Given the description of an element on the screen output the (x, y) to click on. 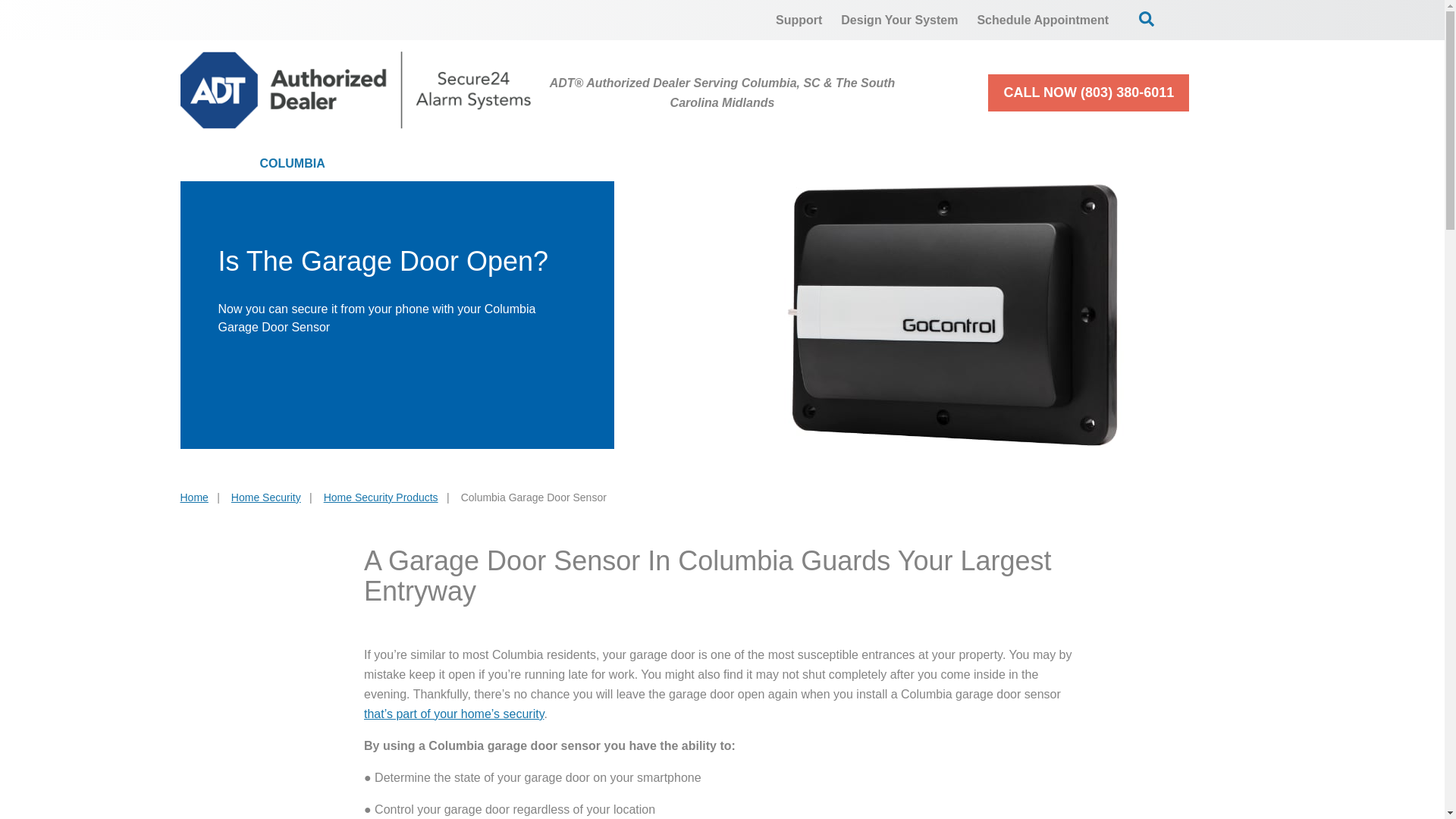
Expand Menu (1169, 163)
Expand Menu (624, 163)
Home Automation (751, 163)
Open Search (1146, 18)
Schedule Appointment (1042, 20)
Cameras (591, 163)
Expand Menu (491, 163)
Design Your System (898, 20)
Expand Menu (967, 163)
Expand Menu (811, 163)
Home Security (441, 163)
Secure24 Alarm Systems Home (355, 89)
Support (798, 20)
